Given the description of an element on the screen output the (x, y) to click on. 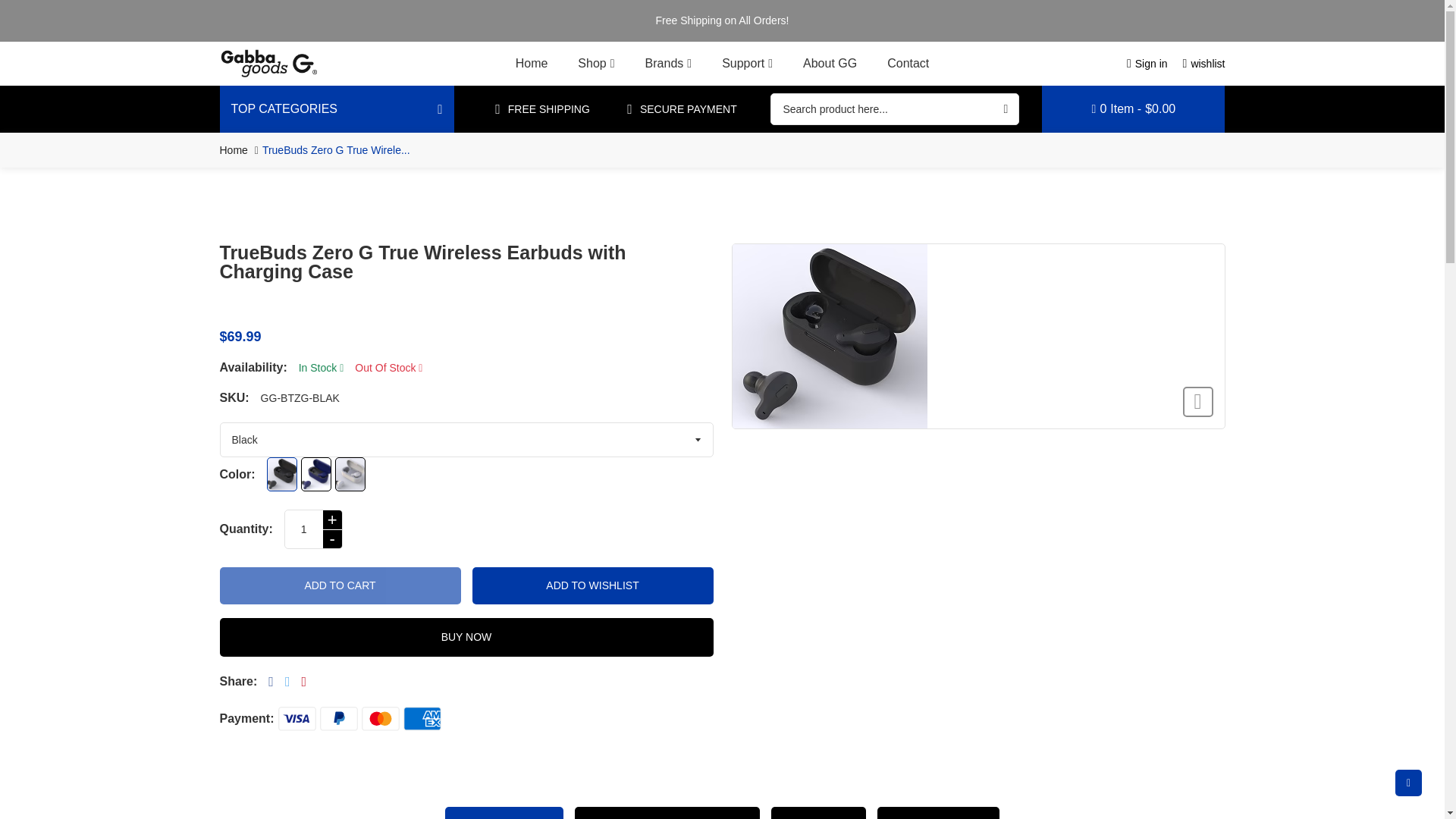
Brands (668, 63)
black (281, 474)
Back to the home page (233, 150)
Home (531, 63)
Buynow (466, 637)
TOP CATEGORIES (336, 108)
Sign in (1146, 63)
Add to cart (340, 585)
Shop (595, 63)
Wishlist (592, 585)
